Given the description of an element on the screen output the (x, y) to click on. 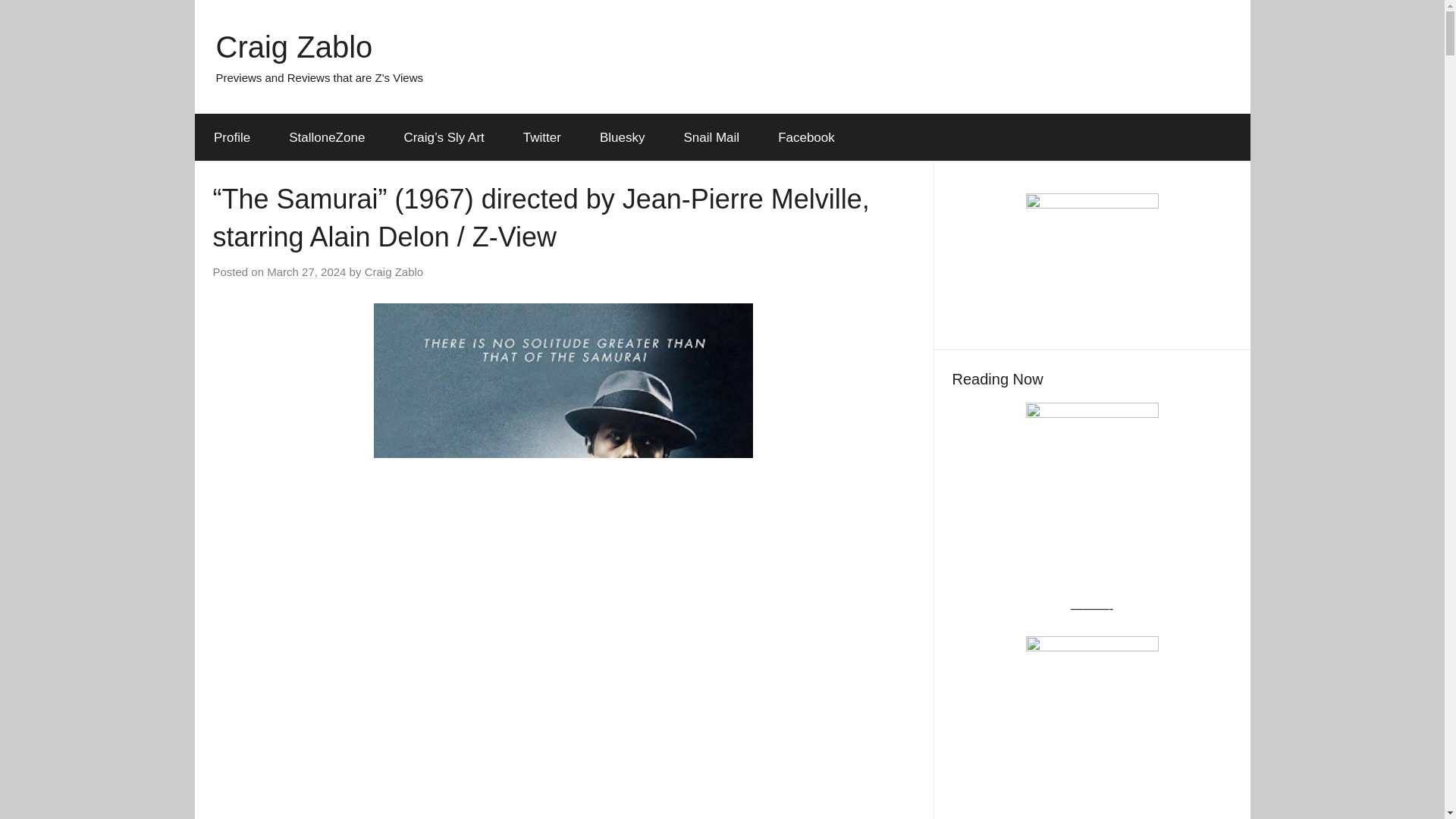
StalloneZone (326, 137)
Bluesky (621, 137)
Craig Zablo (394, 272)
Facebook (806, 137)
View all posts by Craig Zablo (394, 272)
Snail Mail (710, 137)
Twitter (541, 137)
Profile (231, 137)
March 27, 2024 (306, 272)
Craig Zablo (293, 46)
